Given the description of an element on the screen output the (x, y) to click on. 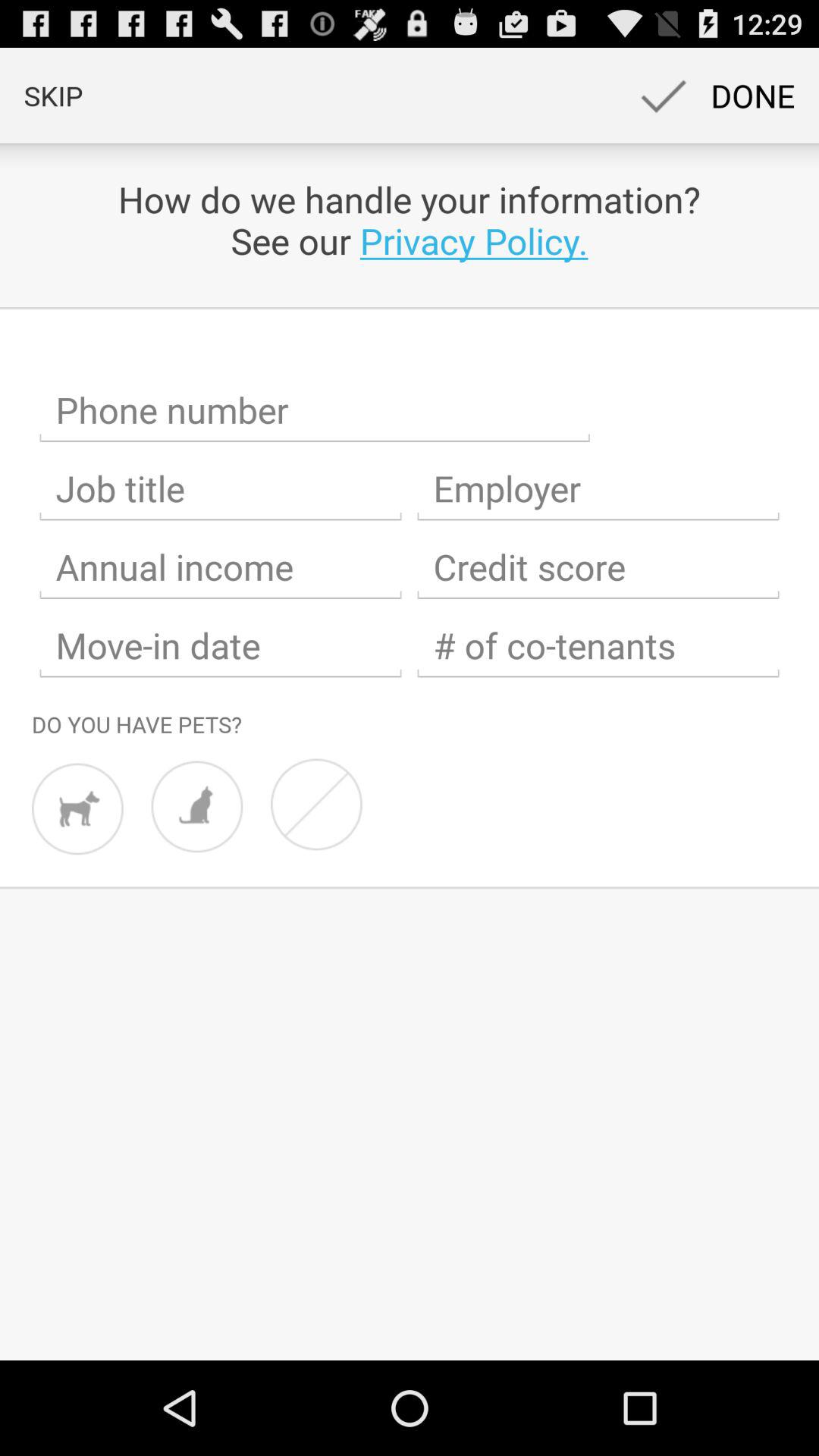
cat (196, 806)
